Given the description of an element on the screen output the (x, y) to click on. 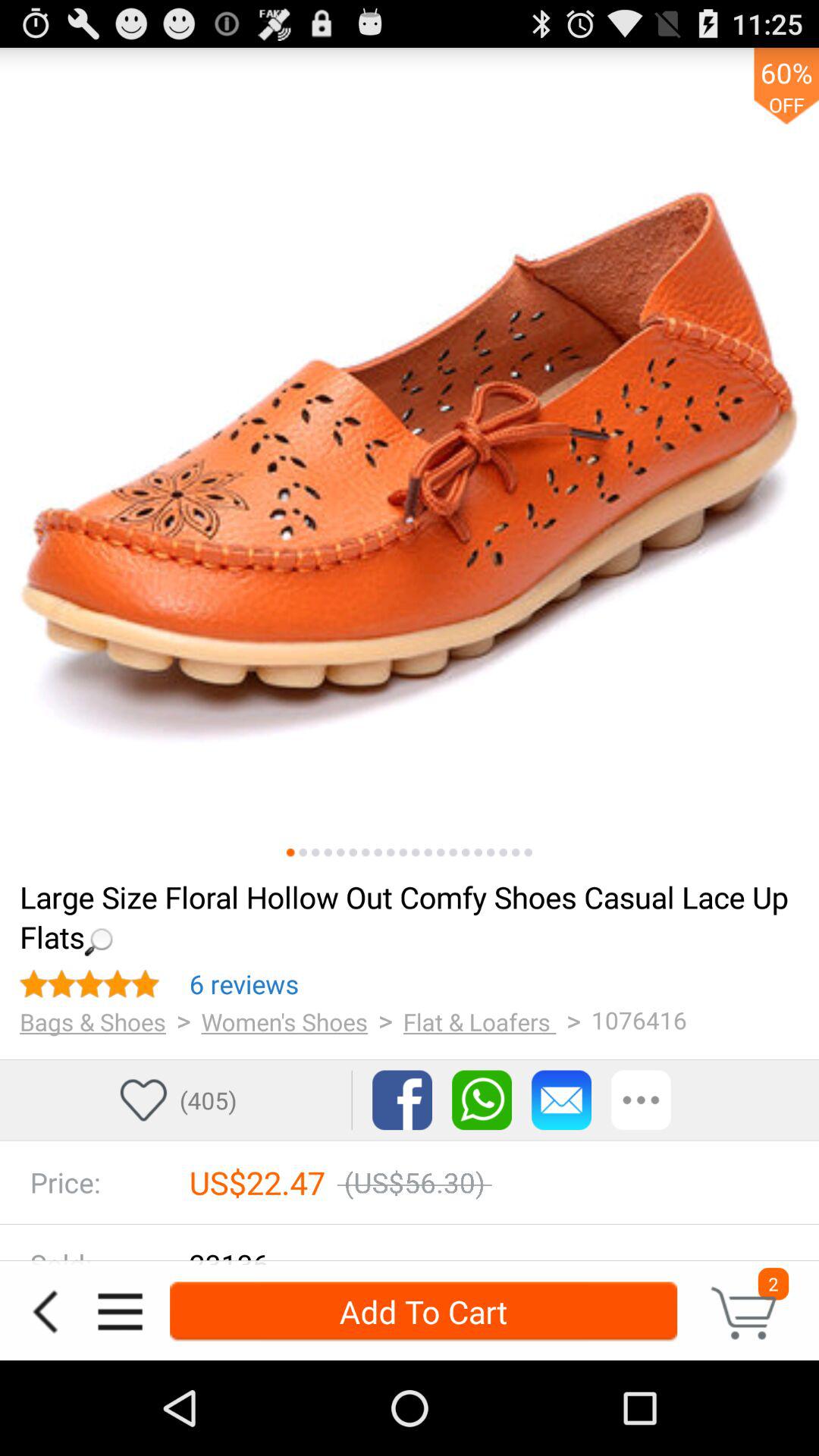
view pictures (490, 852)
